Given the description of an element on the screen output the (x, y) to click on. 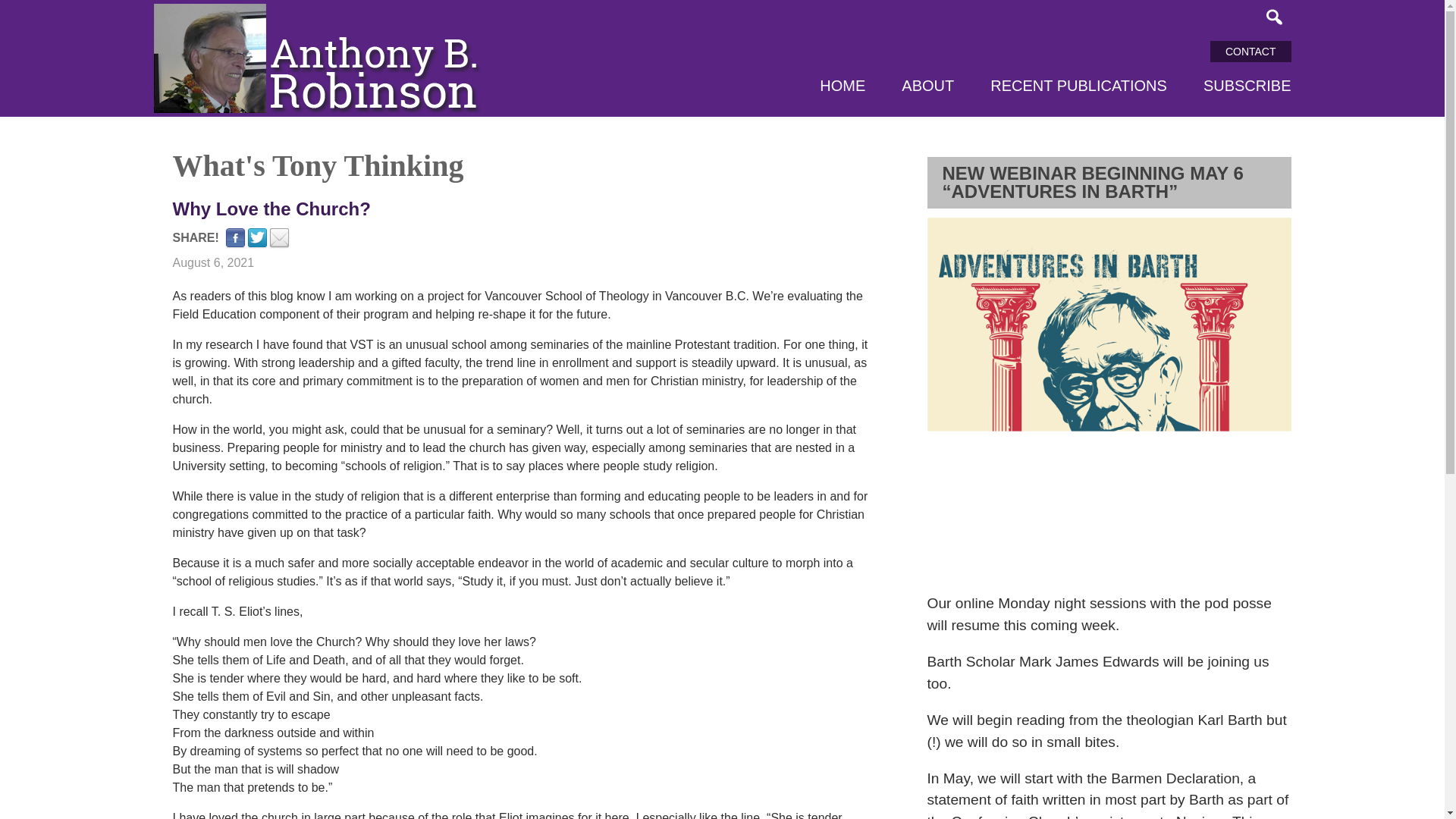
RECENT PUBLICATIONS (1078, 86)
Search (1274, 16)
Search (1274, 16)
SUBSCRIBE (1247, 86)
HOME (841, 86)
CONTACT (1250, 51)
ABOUT (927, 86)
